Given the description of an element on the screen output the (x, y) to click on. 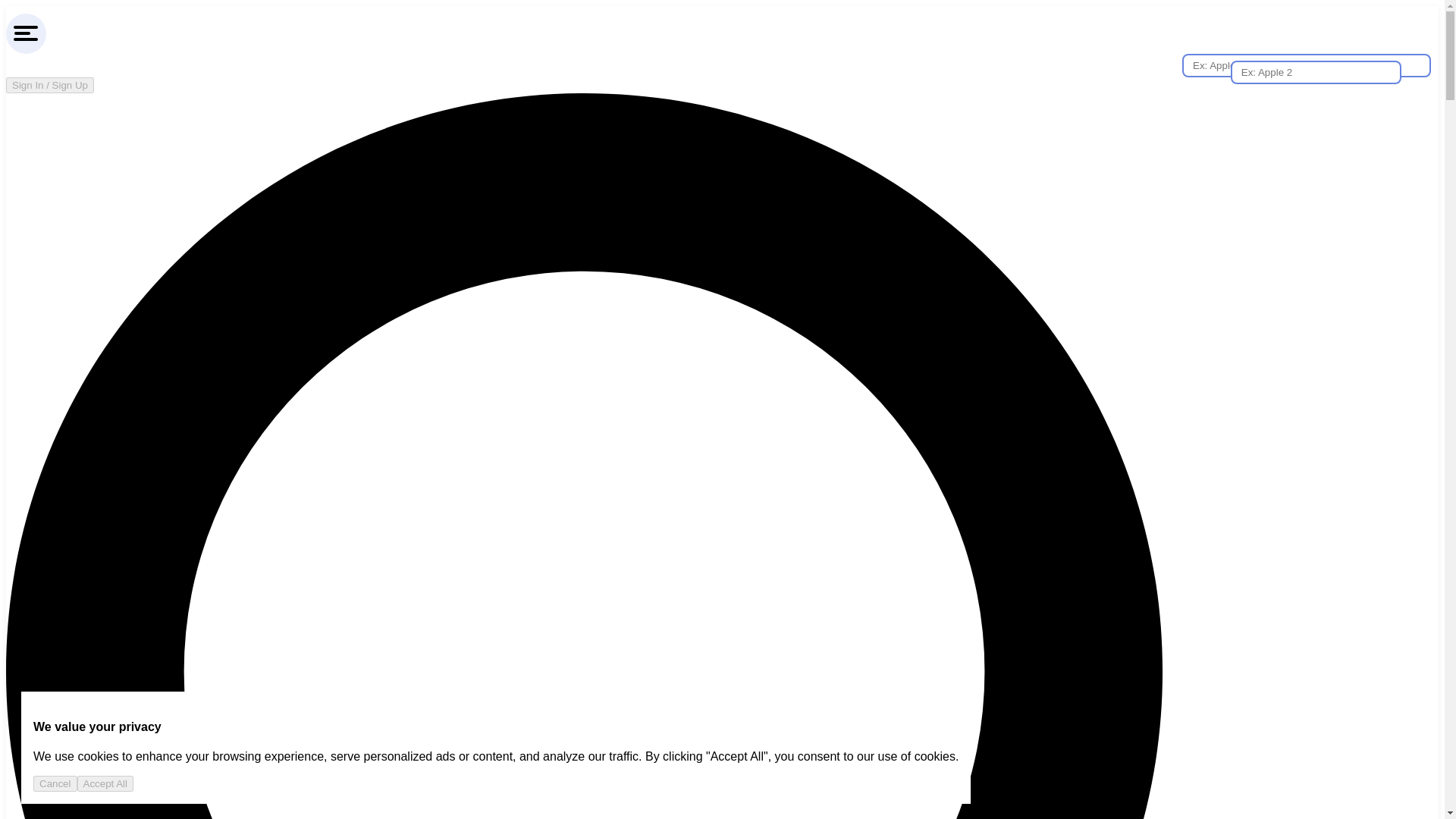
Accept All (105, 783)
Cancel (55, 783)
